Given the description of an element on the screen output the (x, y) to click on. 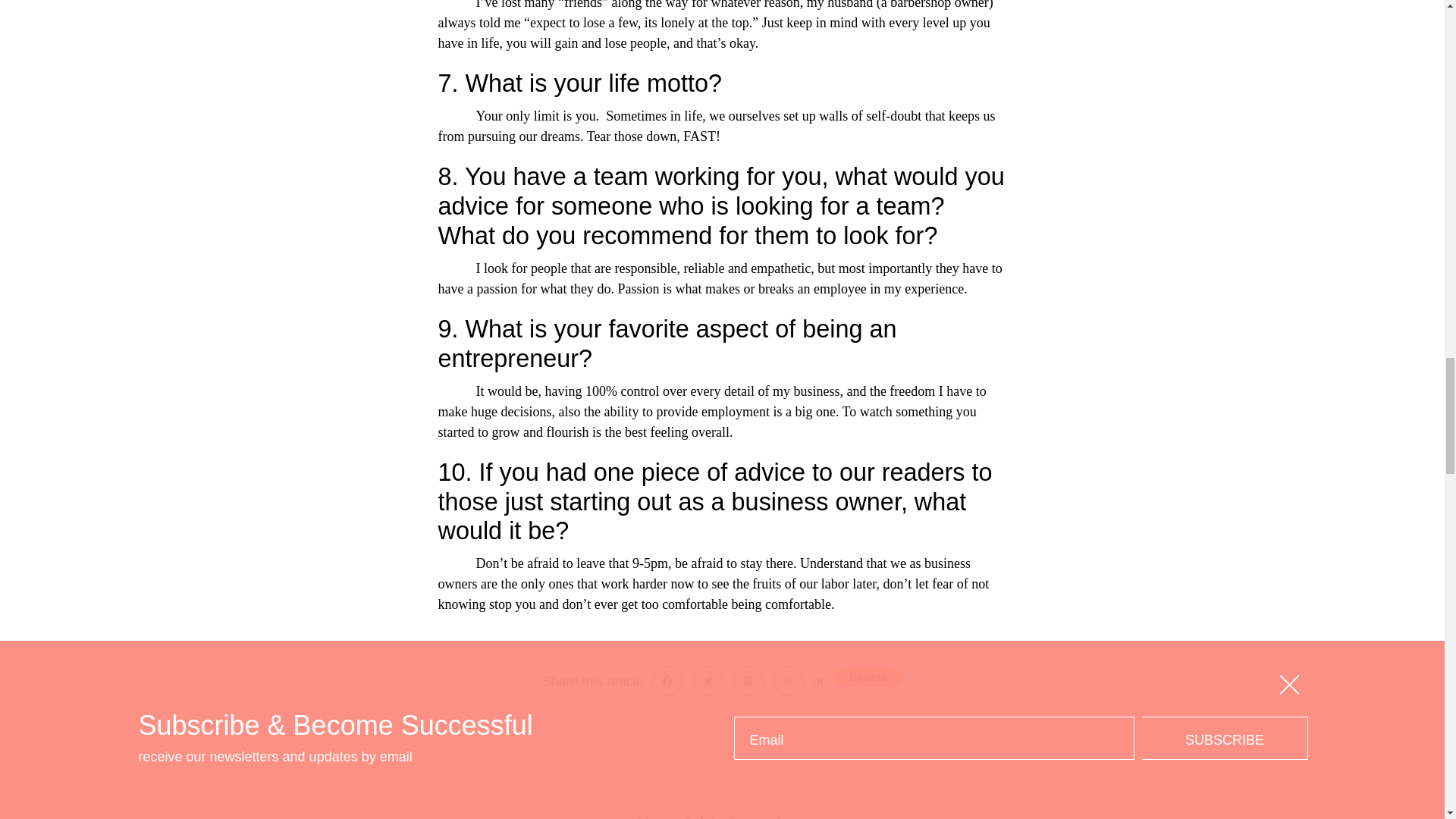
PINTEREST (747, 680)
LINKEDIN (788, 680)
FACEBOOK (667, 680)
TWITTER (708, 680)
